Given the description of an element on the screen output the (x, y) to click on. 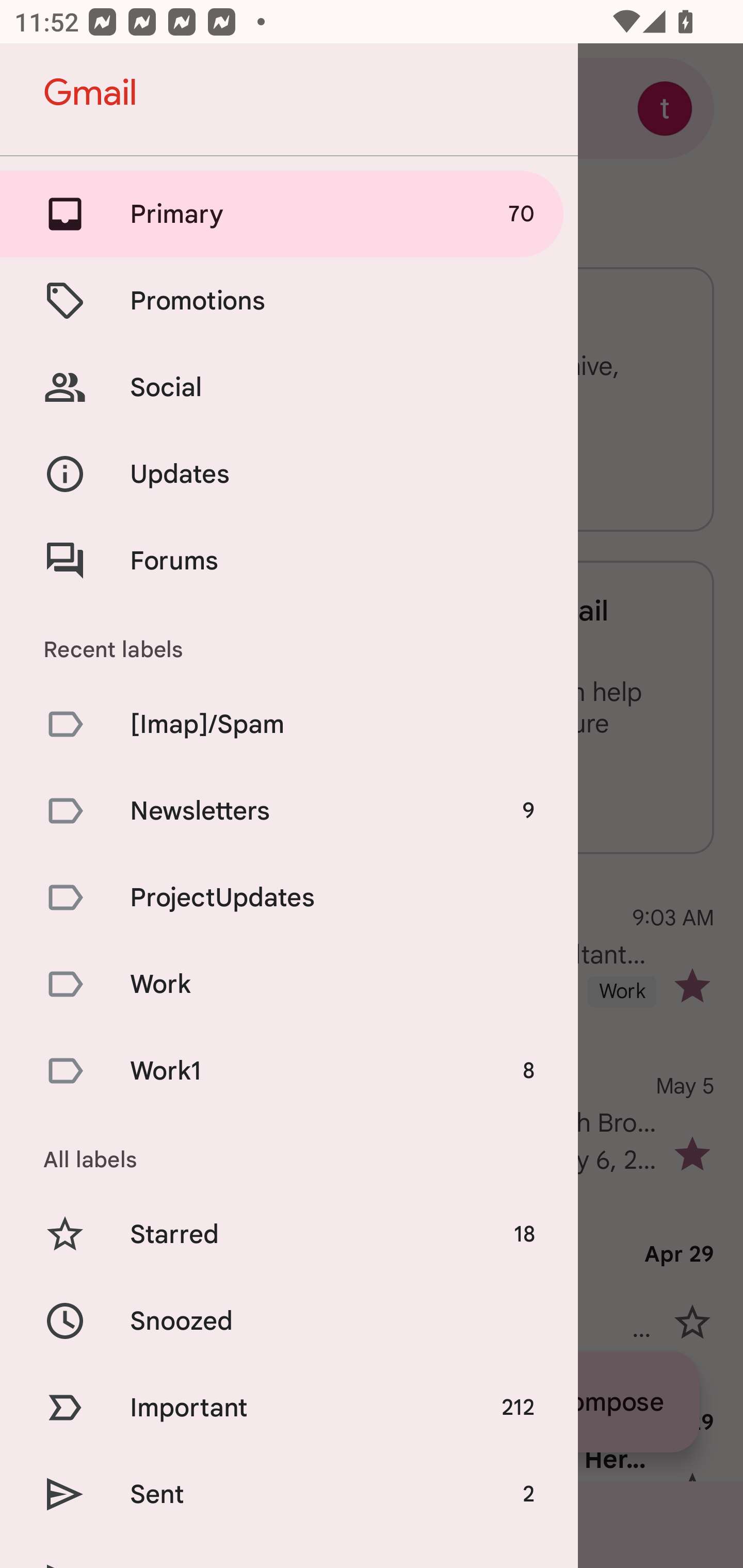
Primary 70 (289, 213)
Promotions (289, 300)
Social (289, 387)
Updates (289, 474)
Forums (289, 560)
[Imap]/Spam (289, 723)
Newsletters 9 (289, 810)
ProjectUpdates (289, 897)
Work (289, 983)
Work1 8 (289, 1070)
Starred 18 (289, 1234)
Snoozed (289, 1320)
Important 212 (289, 1407)
Sent 2 (289, 1494)
